Given the description of an element on the screen output the (x, y) to click on. 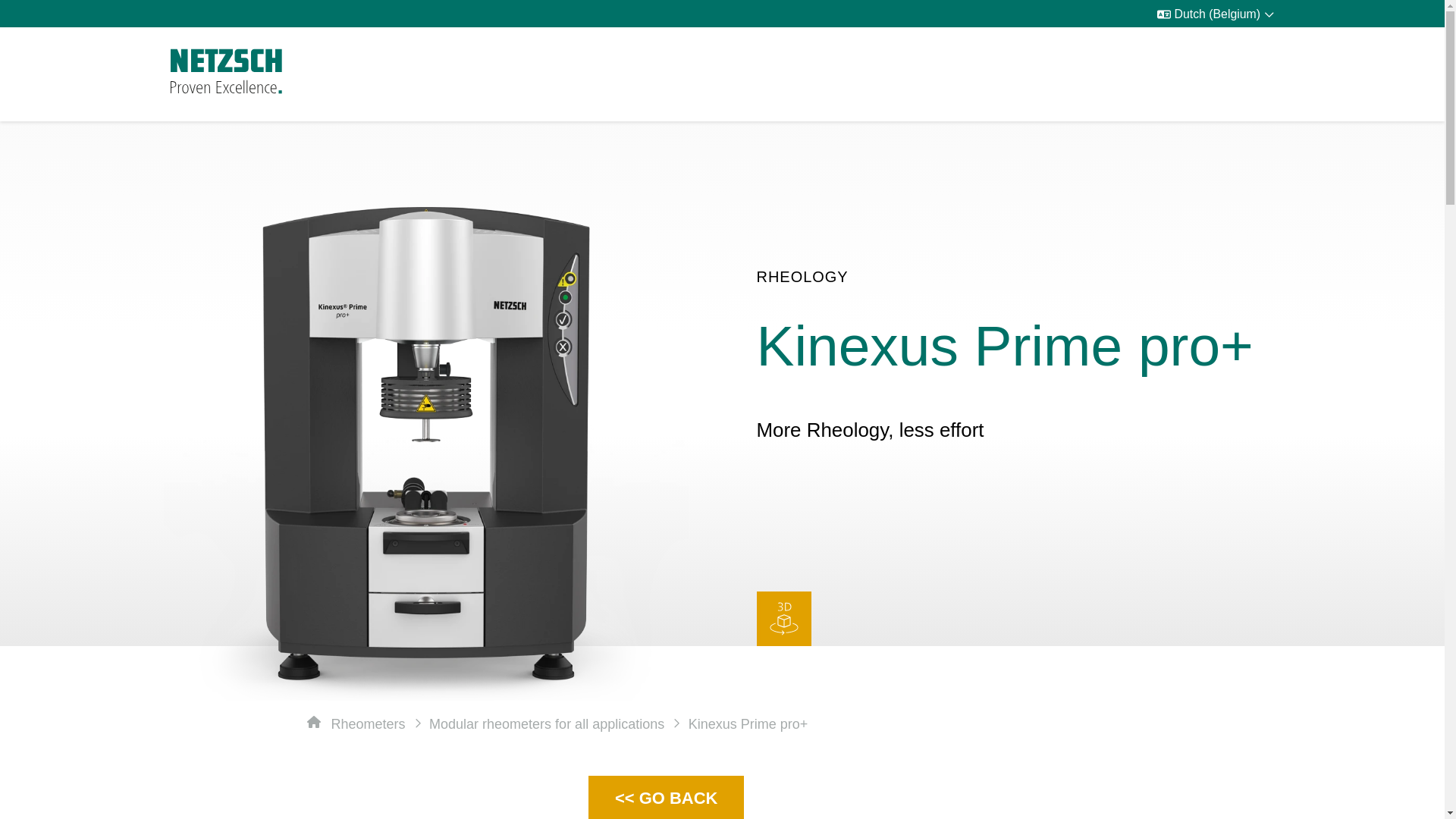
Modular rheometers for all applications (546, 723)
Netzsch Logo (226, 71)
Rheometers (367, 723)
